Given the description of an element on the screen output the (x, y) to click on. 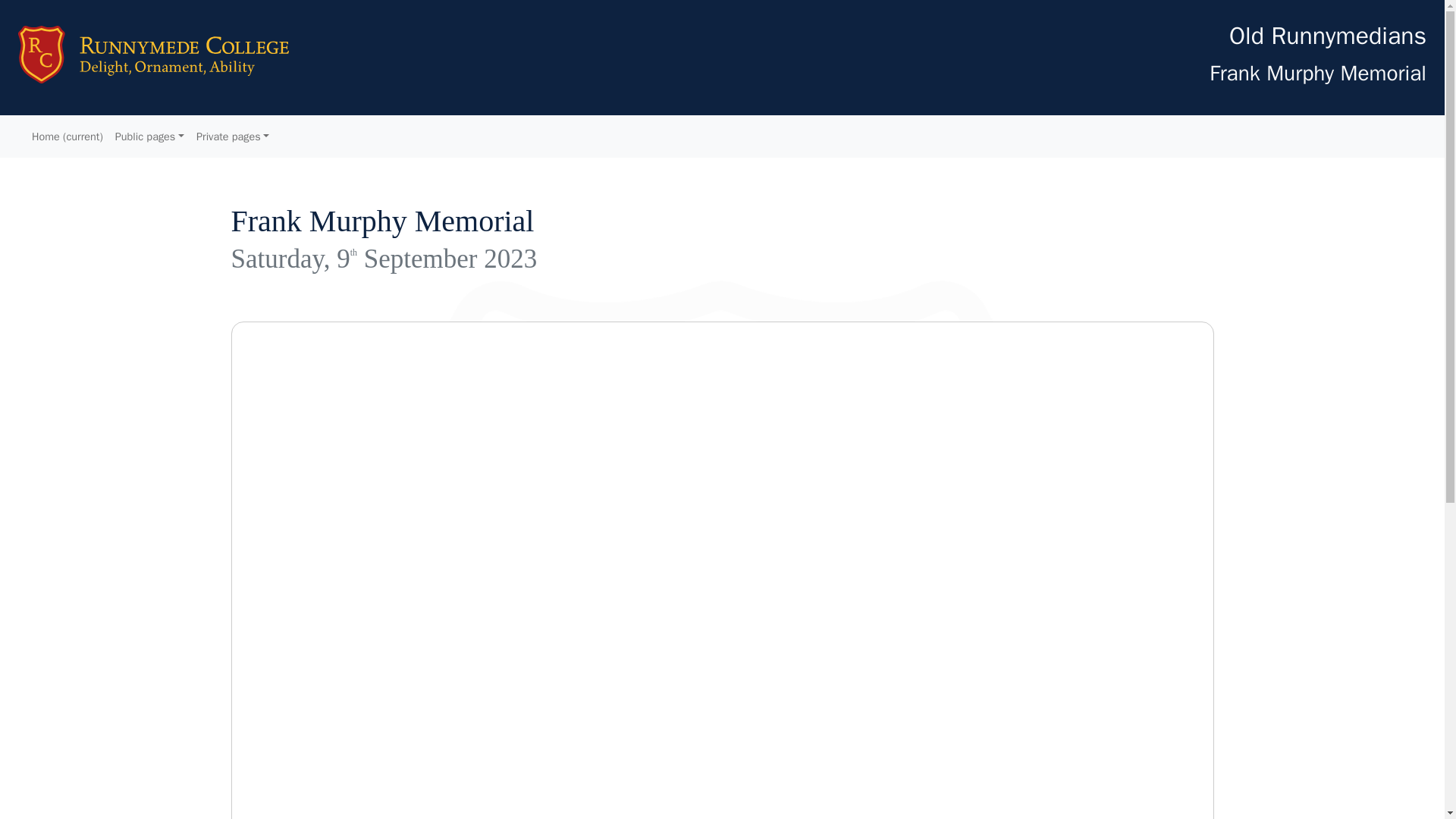
Public pages (149, 136)
Private pages (232, 136)
